Given the description of an element on the screen output the (x, y) to click on. 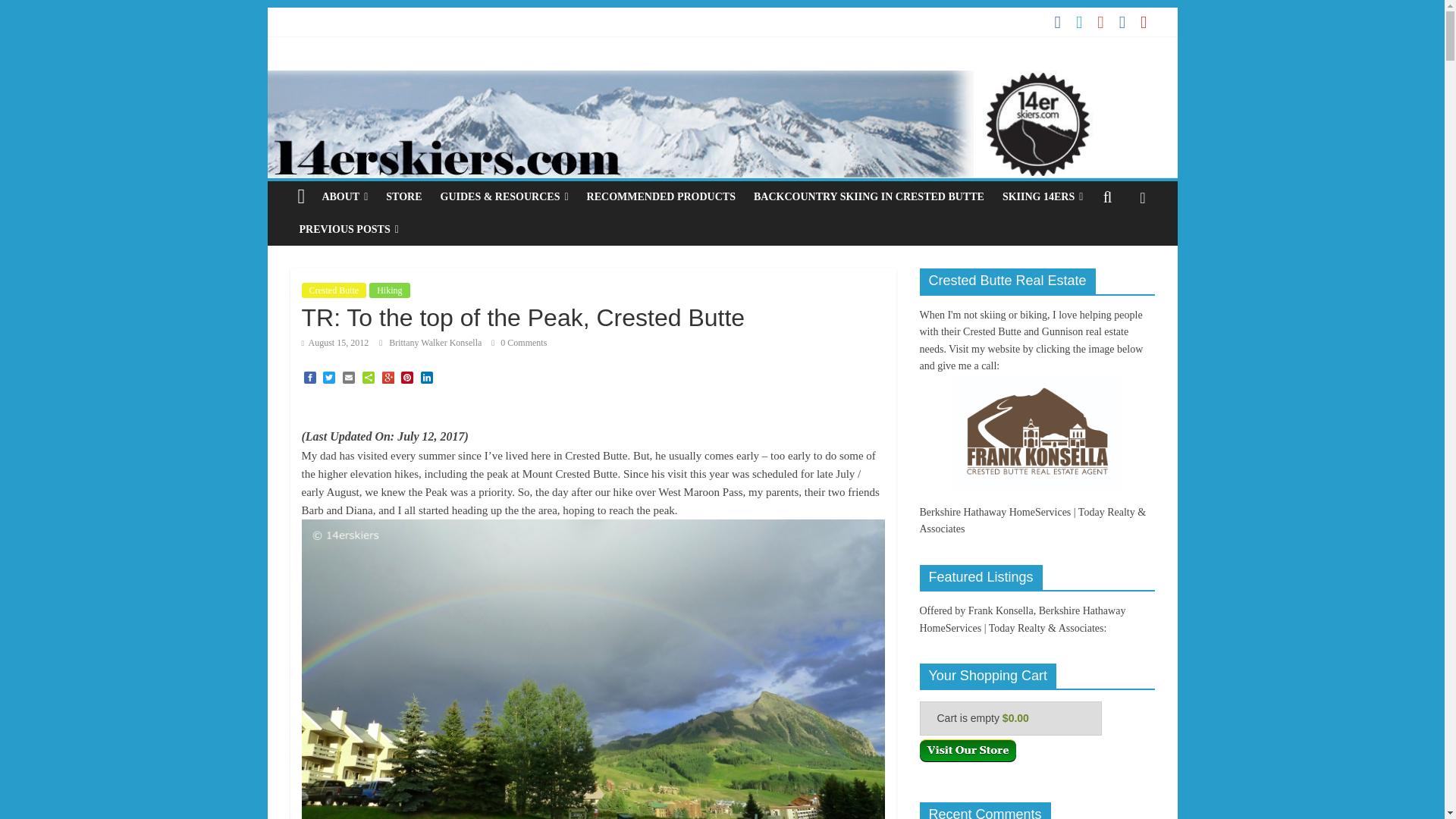
5:07 am (335, 342)
RECOMMENDED PRODUCTS (661, 196)
PREVIOUS POSTS (348, 229)
BACKCOUNTRY SKIING IN CRESTED BUTTE (868, 196)
SKIING 14ERS (1042, 196)
ABOUT (345, 196)
14erskiers.com (721, 79)
Brittany Walker Konsella (435, 342)
STORE (403, 196)
